Given the description of an element on the screen output the (x, y) to click on. 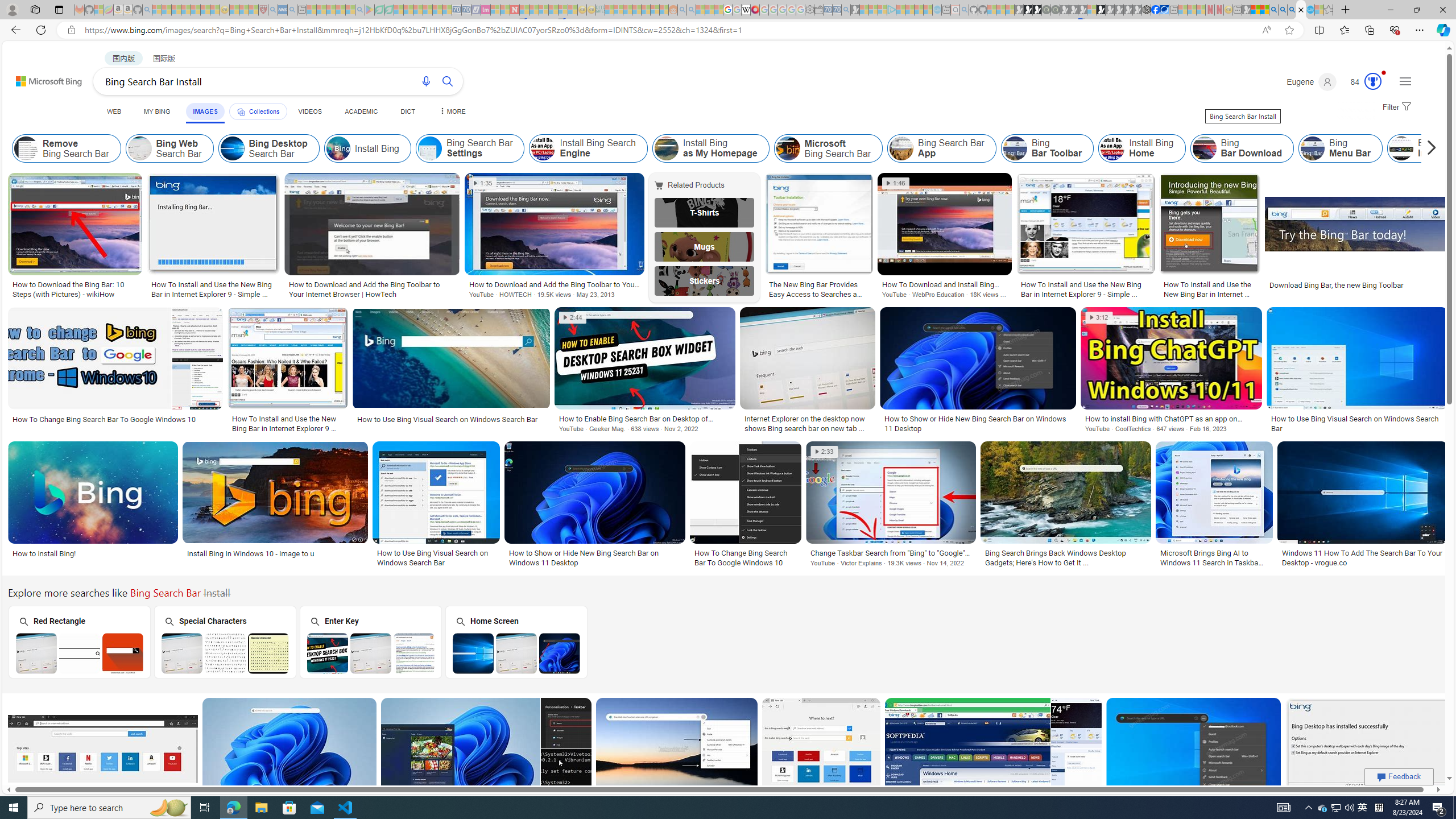
Download Bing Bar, the new Bing Toolbar (1355, 284)
How To Change Bing Search Bar To Google Windows 10 (745, 557)
utah sues federal government - Search - Sleeping (291, 9)
Kinda Frugal - MSN - Sleeping (645, 9)
Red Rectangle Bing Search Bar Red Rectangle (78, 642)
